Given the description of an element on the screen output the (x, y) to click on. 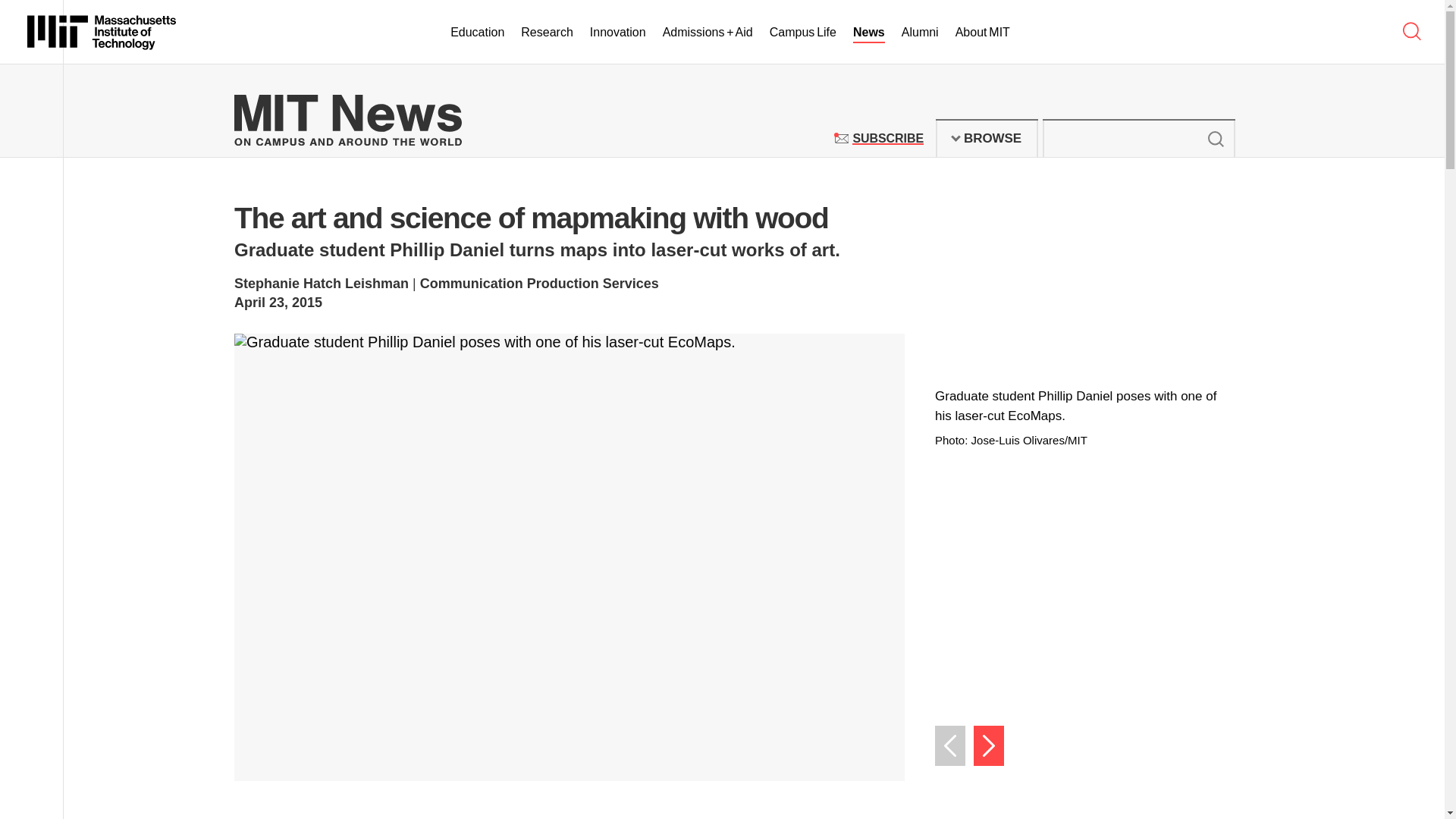
Massachusetts Institute of Technology (101, 32)
BROWSE (887, 137)
Campus Life (987, 138)
Submit (802, 32)
